Given the description of an element on the screen output the (x, y) to click on. 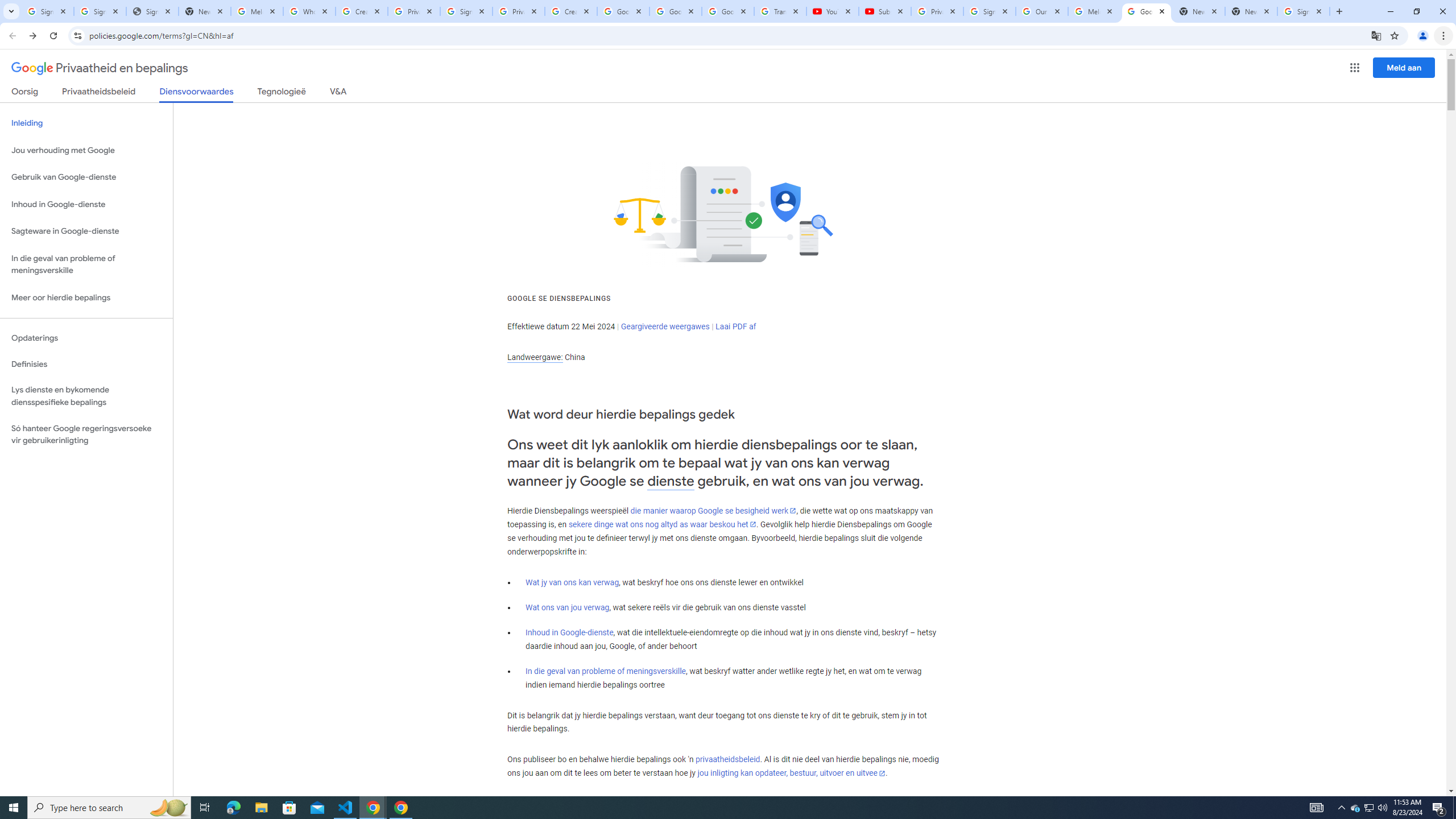
Meld aan (1404, 67)
YouTube (831, 11)
Laai PDF af (735, 326)
In die geval van probleme of meningsverskille (605, 670)
Gebruik van Google-dienste (86, 176)
Create your Google Account (571, 11)
